Given the description of an element on the screen output the (x, y) to click on. 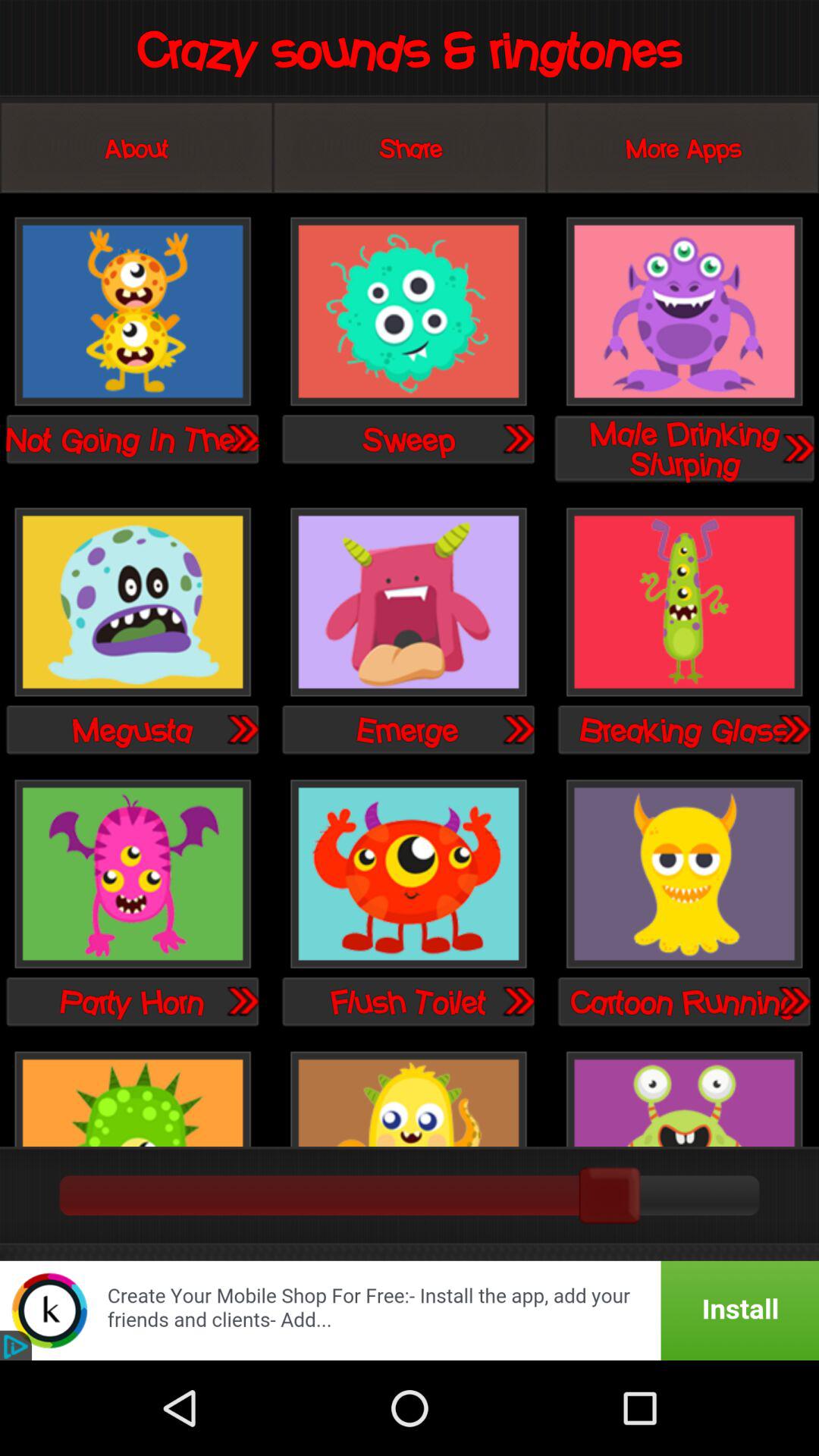
play breaking glass sound (684, 602)
